Given the description of an element on the screen output the (x, y) to click on. 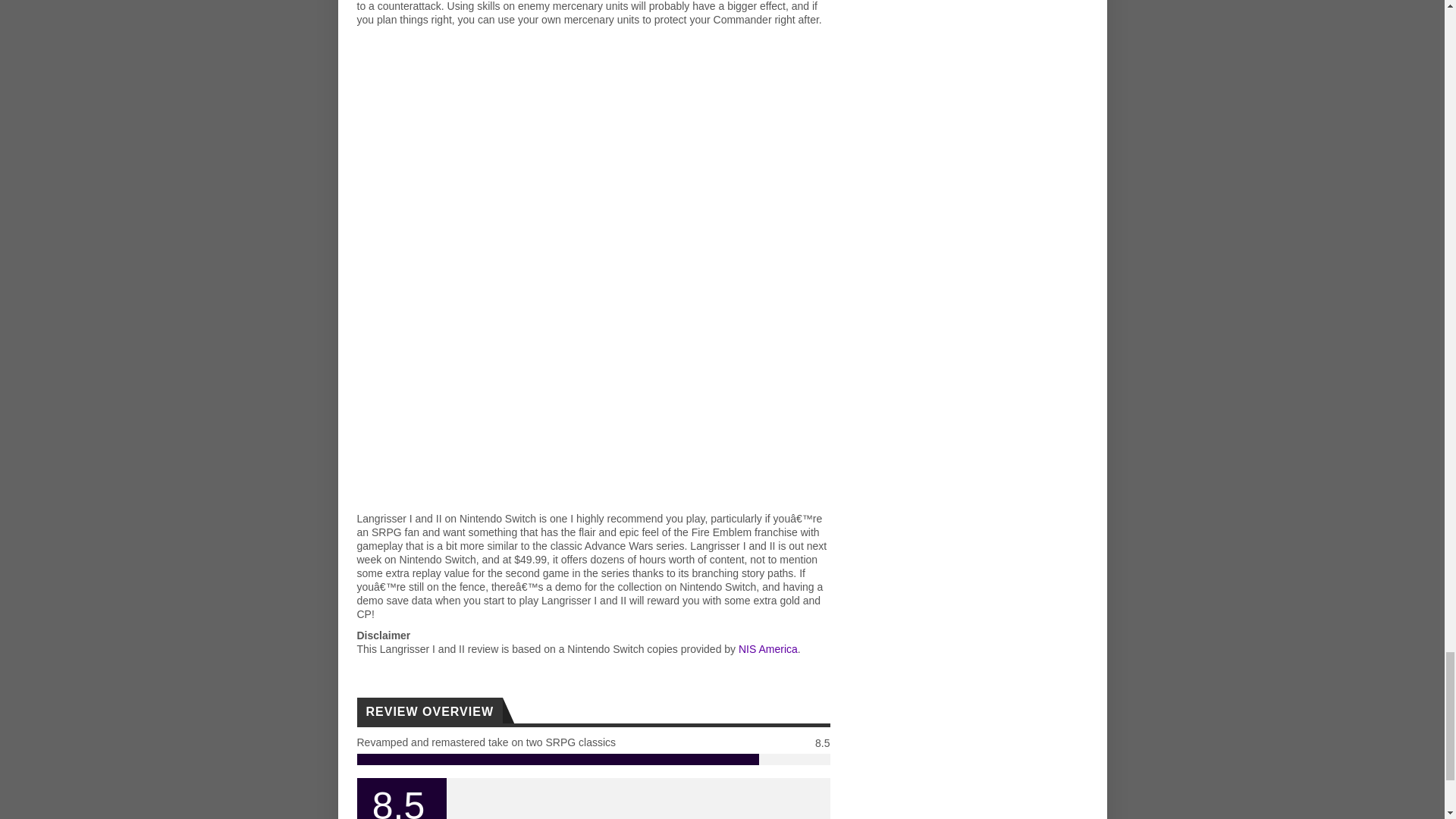
NIS America (767, 648)
